Given the description of an element on the screen output the (x, y) to click on. 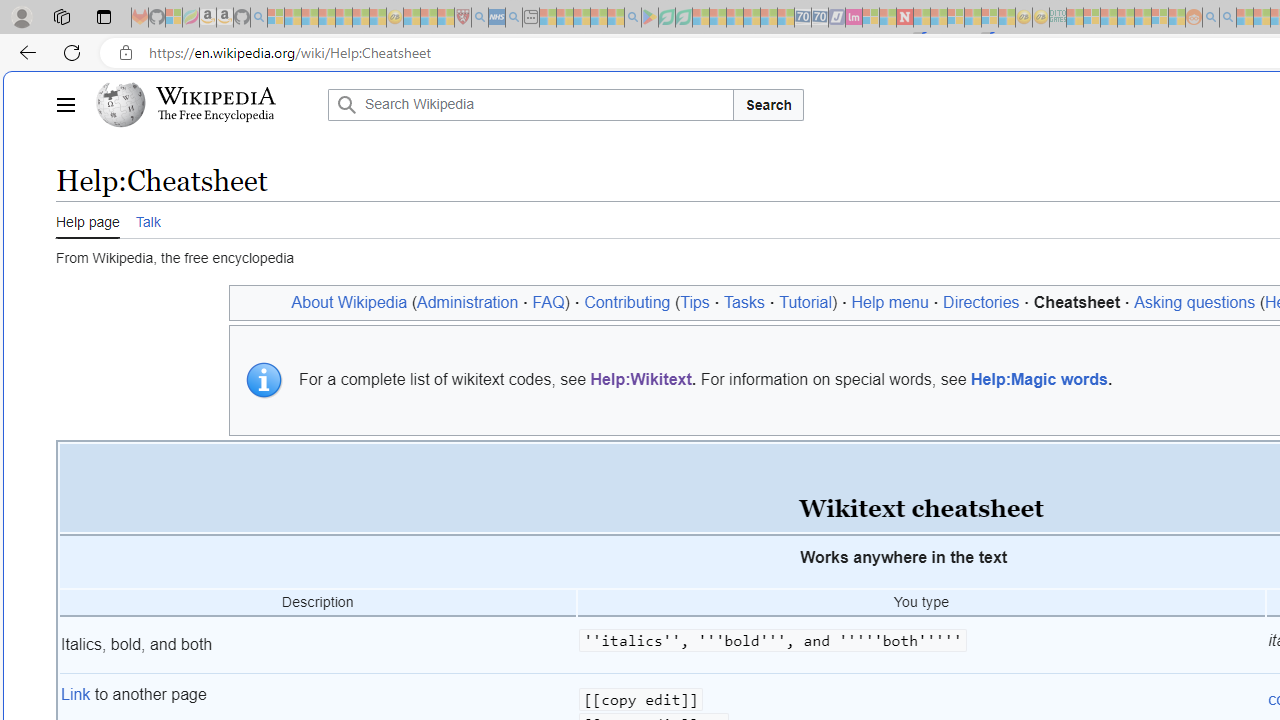
Contributing (626, 302)
Tutorial) (808, 302)
Main menu (65, 104)
Tasks (744, 302)
Tips (694, 302)
Help page (88, 219)
